Given the description of an element on the screen output the (x, y) to click on. 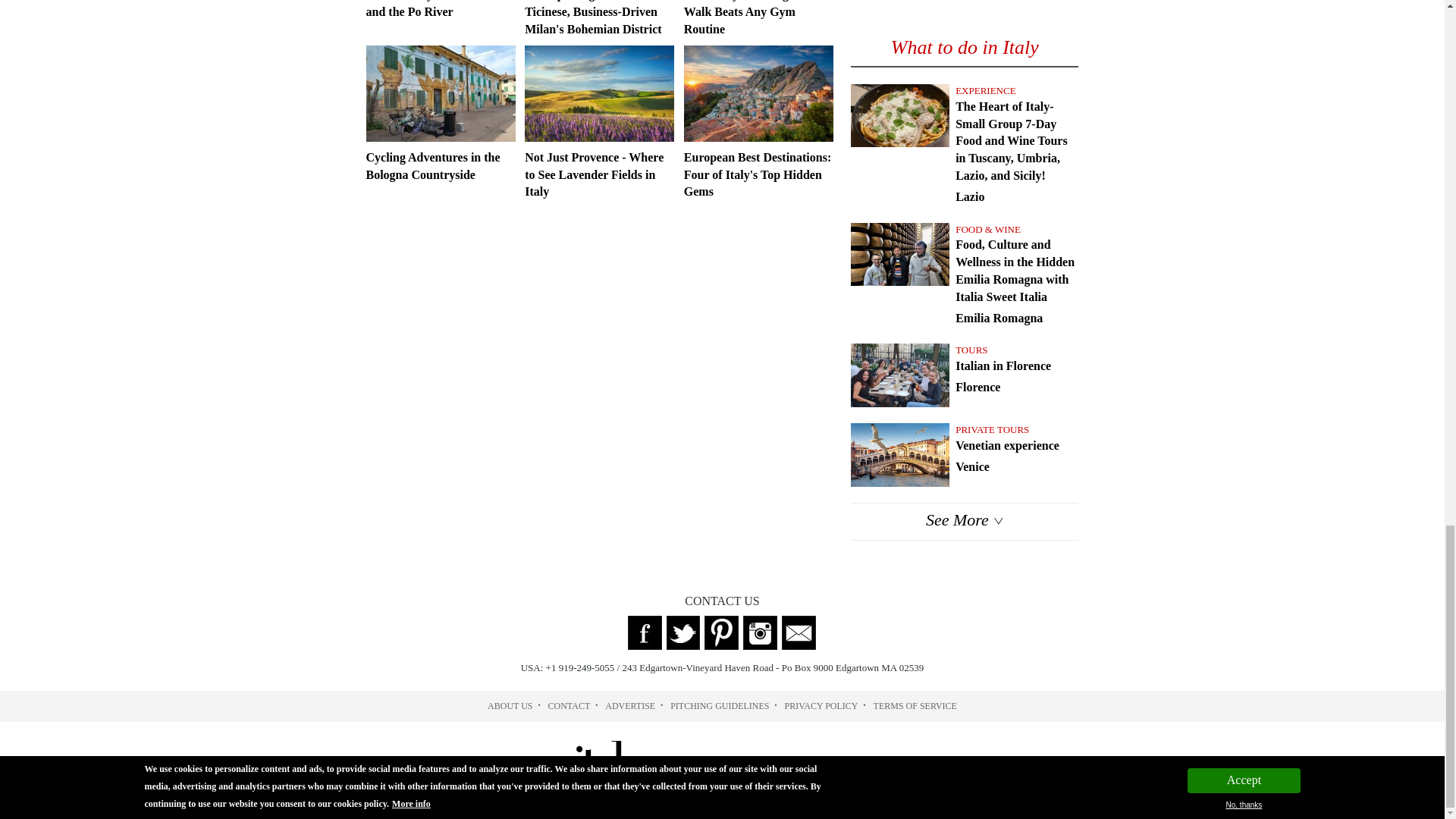
Italian in Florence 1 (899, 374)
3rd party ad content (964, 10)
